Given the description of an element on the screen output the (x, y) to click on. 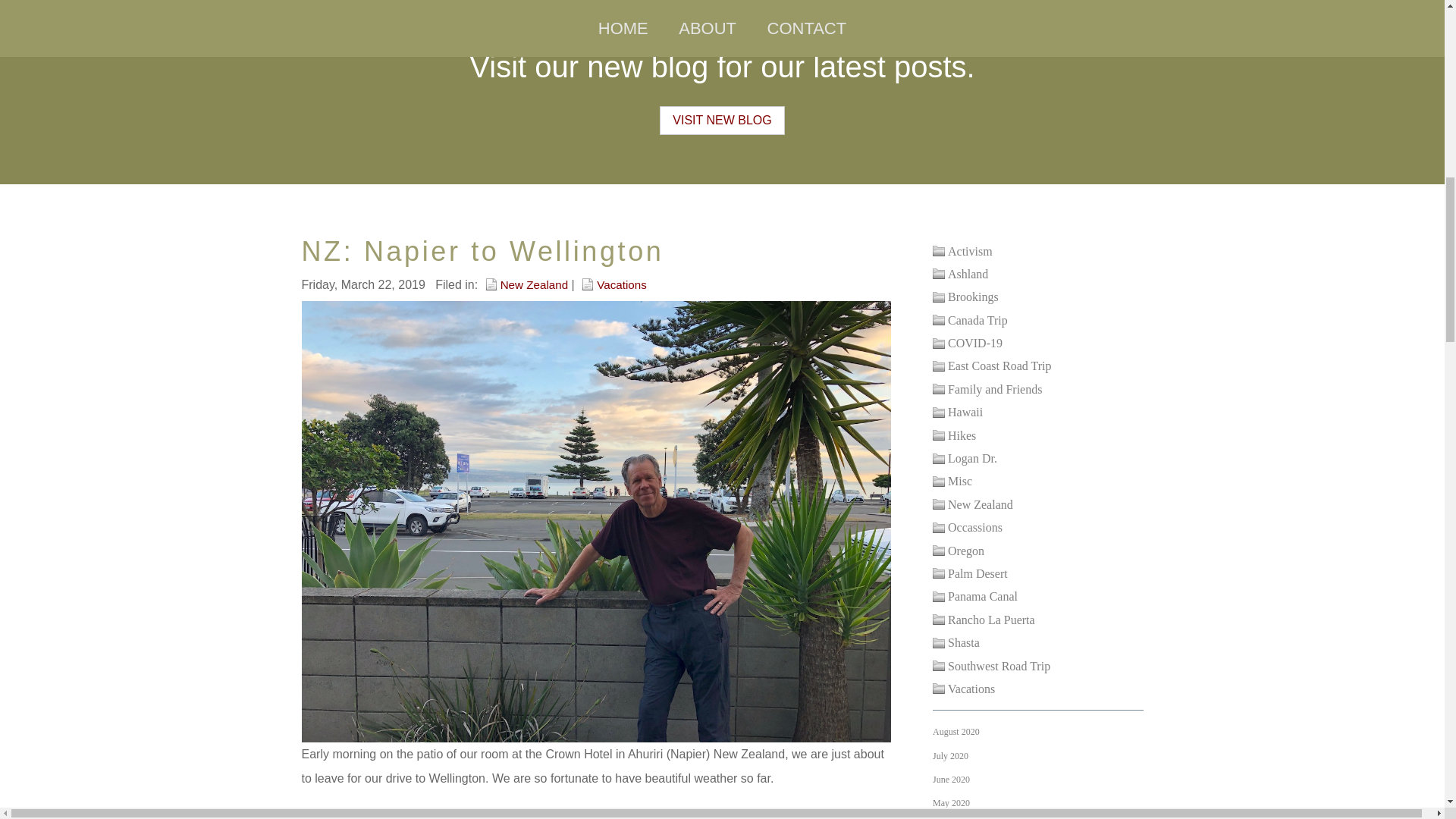
Ashland (960, 273)
Activism (962, 251)
COVID-19 (968, 343)
Vacations (613, 284)
NZ: Napier to Wellington (482, 250)
VISIT NEW BLOG (721, 120)
Canada Trip (970, 320)
Family and Friends (987, 389)
Brookings (965, 296)
New Zealand (526, 284)
East Coast Road Trip (992, 365)
